Given the description of an element on the screen output the (x, y) to click on. 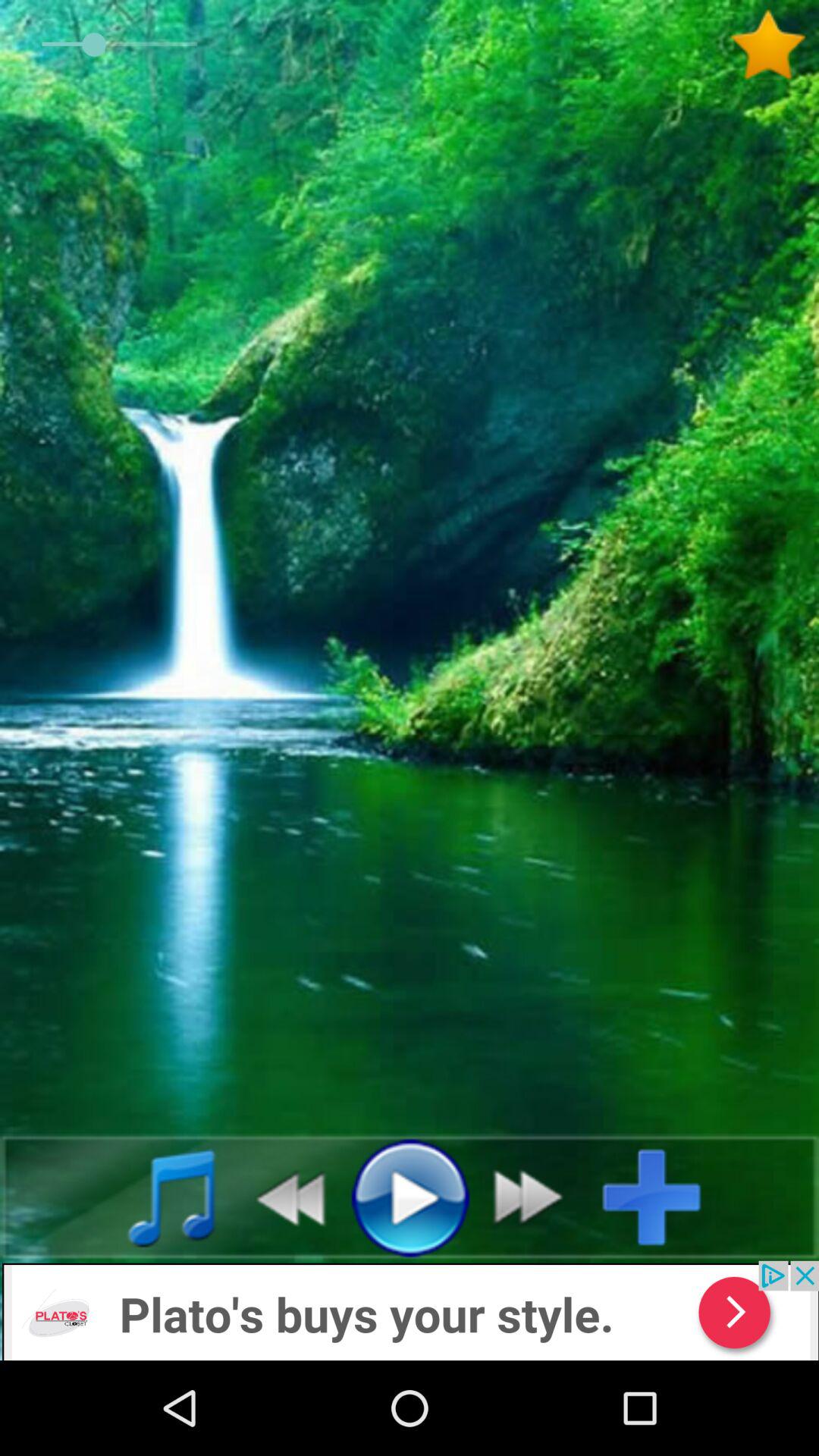
open songs library (154, 1196)
